Given the description of an element on the screen output the (x, y) to click on. 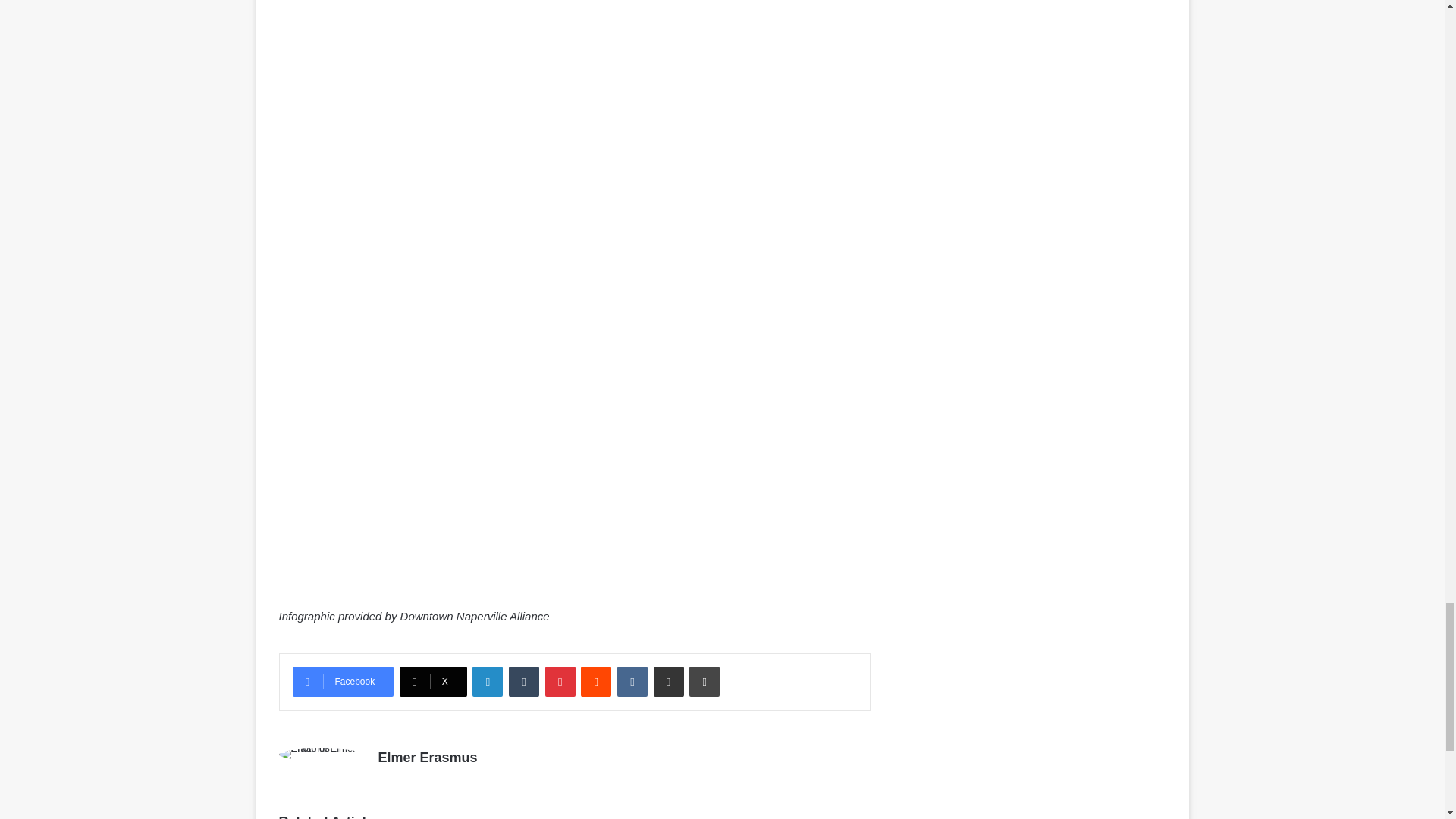
Facebook (343, 681)
LinkedIn (486, 681)
VKontakte (632, 681)
Share via Email (668, 681)
Reddit (595, 681)
Share via Email (668, 681)
Print (703, 681)
Reddit (595, 681)
Facebook (343, 681)
X (432, 681)
